Given the description of an element on the screen output the (x, y) to click on. 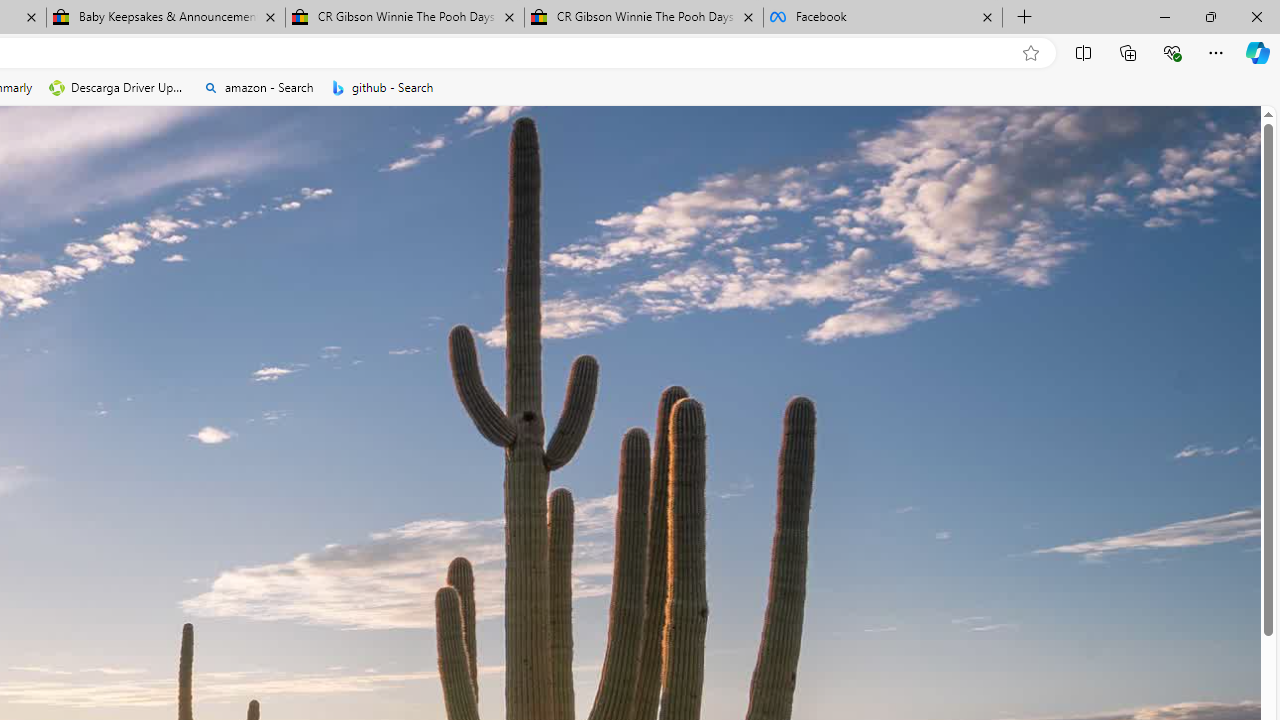
Add a site (332, 223)
Hide this story (82, 315)
Descarga Driver Updater (118, 88)
Humidity 84% (744, 367)
hotels-header-icon (490, 632)
